Given the description of an element on the screen output the (x, y) to click on. 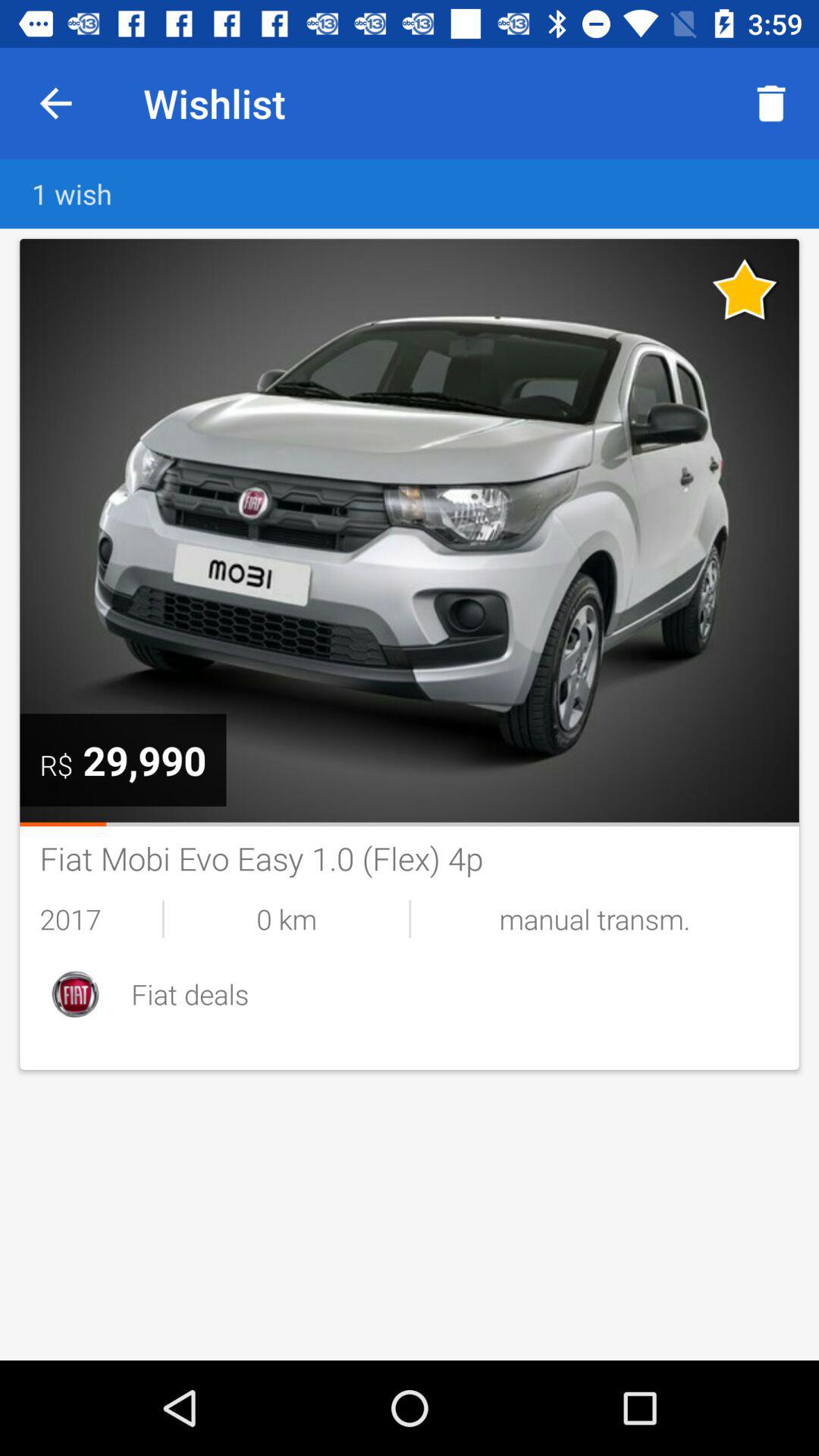
click the icon next to 0 km icon (100, 918)
